Given the description of an element on the screen output the (x, y) to click on. 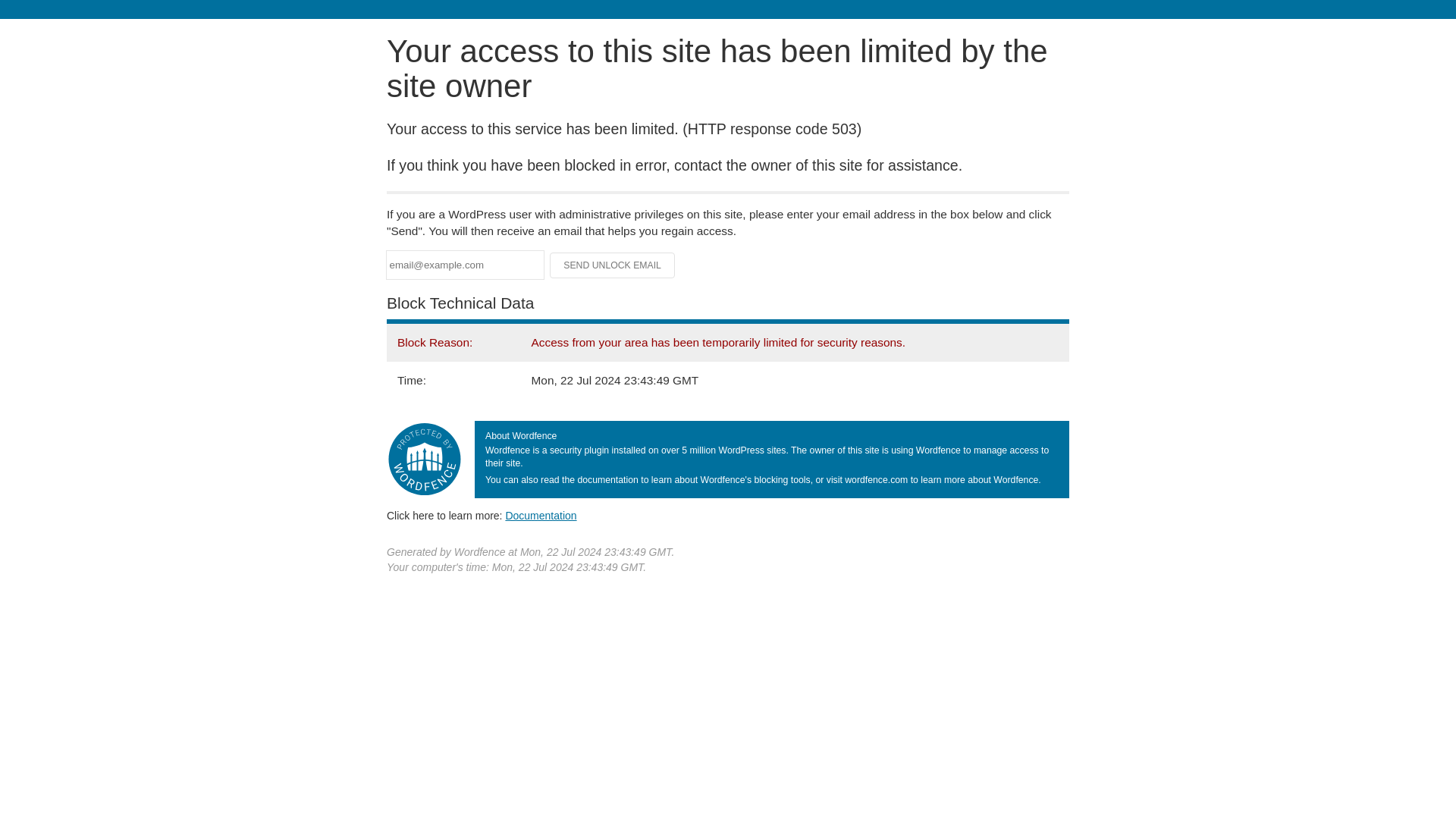
Send Unlock Email (612, 265)
Send Unlock Email (612, 265)
Documentation (540, 515)
